Given the description of an element on the screen output the (x, y) to click on. 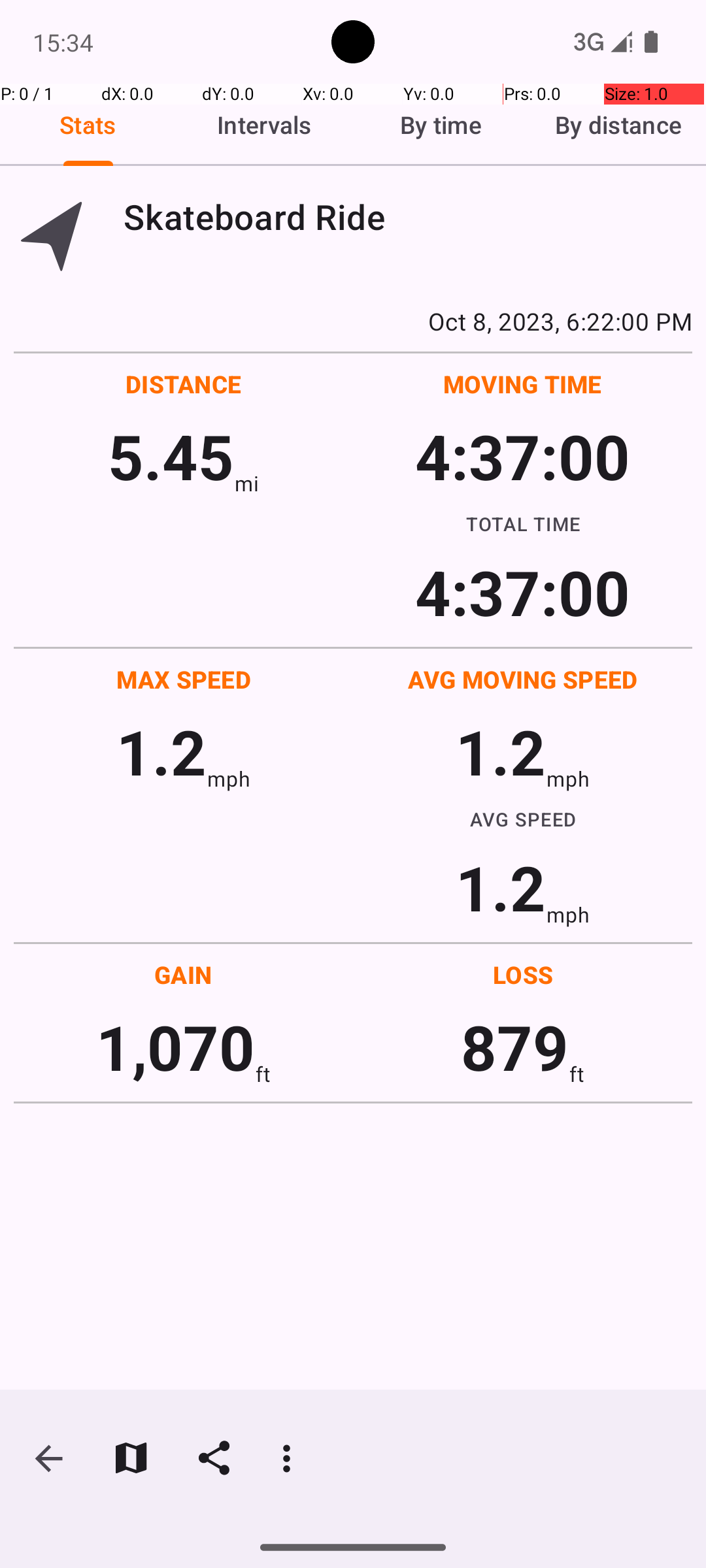
Skateboard Ride Element type: android.widget.TextView (407, 216)
Oct 8, 2023, 6:22:00 PM Element type: android.widget.TextView (352, 320)
5.45 Element type: android.widget.TextView (170, 455)
4:37:00 Element type: android.widget.TextView (522, 455)
1.2 Element type: android.widget.TextView (161, 750)
1,070 Element type: android.widget.TextView (175, 1045)
879 Element type: android.widget.TextView (514, 1045)
